Given the description of an element on the screen output the (x, y) to click on. 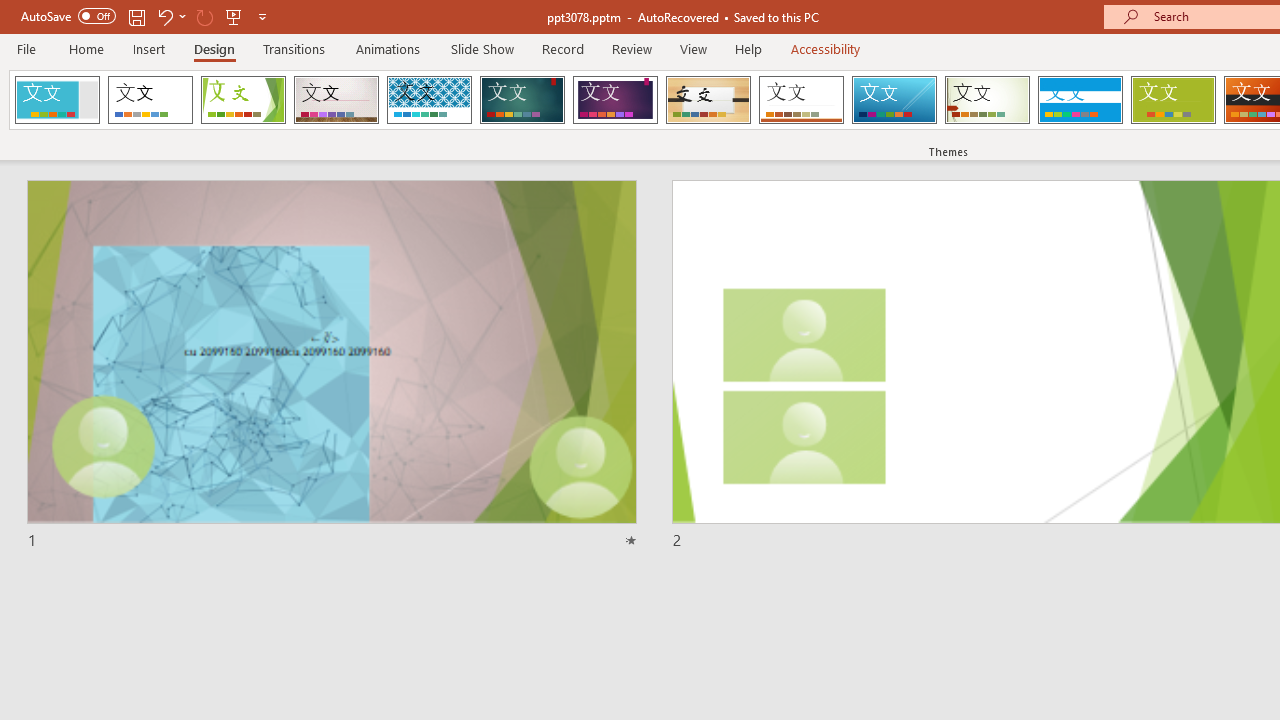
Banded (1080, 100)
Gallery (336, 100)
Organic (708, 100)
Wisp (987, 100)
